Given the description of an element on the screen output the (x, y) to click on. 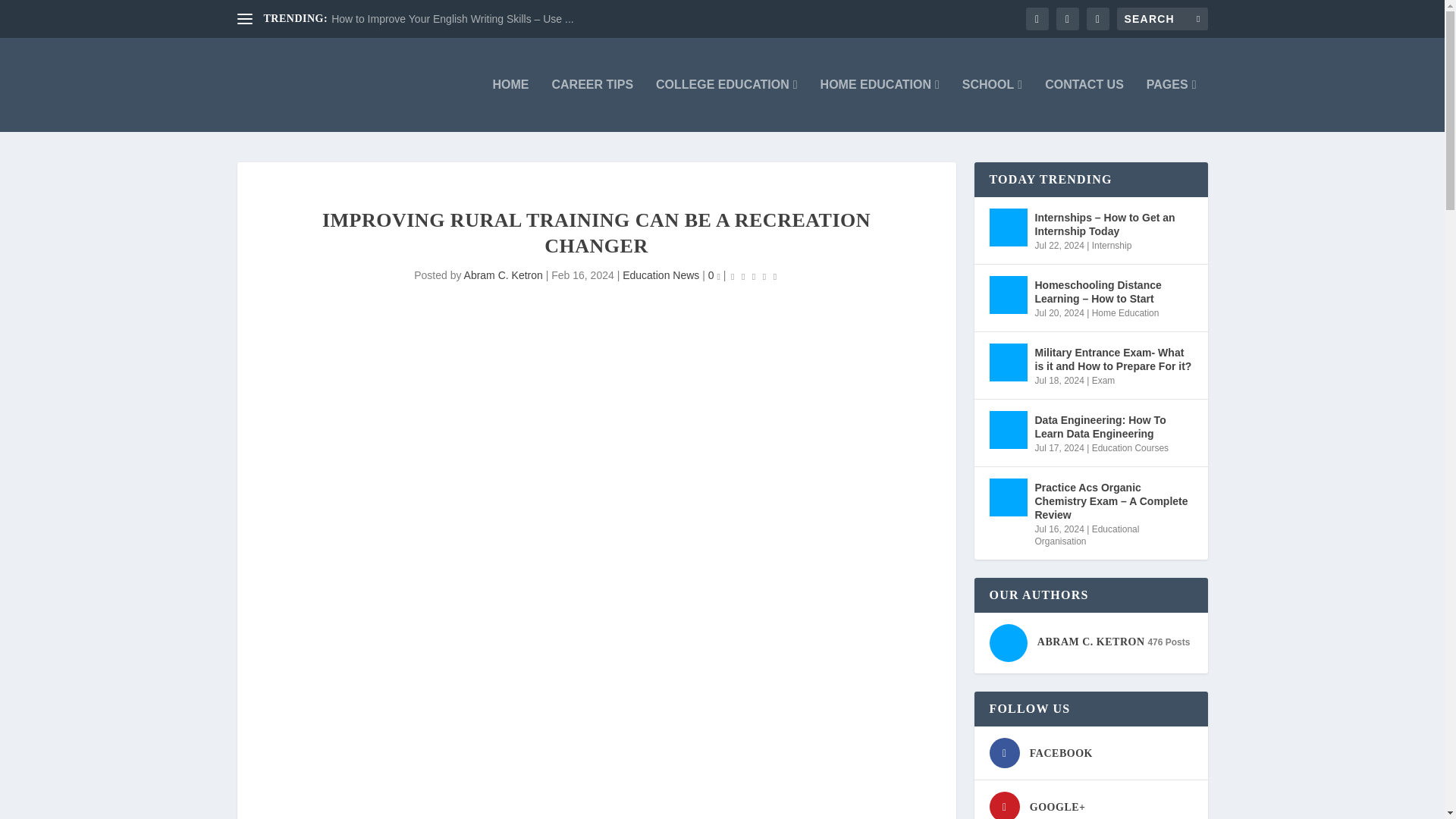
SCHOOL (992, 104)
comment count (717, 276)
Abram C. Ketron (503, 275)
Posts by Abram C. Ketron (503, 275)
COLLEGE EDUCATION (726, 104)
HOME EDUCATION (880, 104)
0 (713, 275)
Education News (660, 275)
CONTACT US (1084, 104)
Rating: 0.00 (753, 275)
PAGES (1171, 104)
CAREER TIPS (592, 104)
HOME (510, 104)
Search for: (1161, 18)
